Given the description of an element on the screen output the (x, y) to click on. 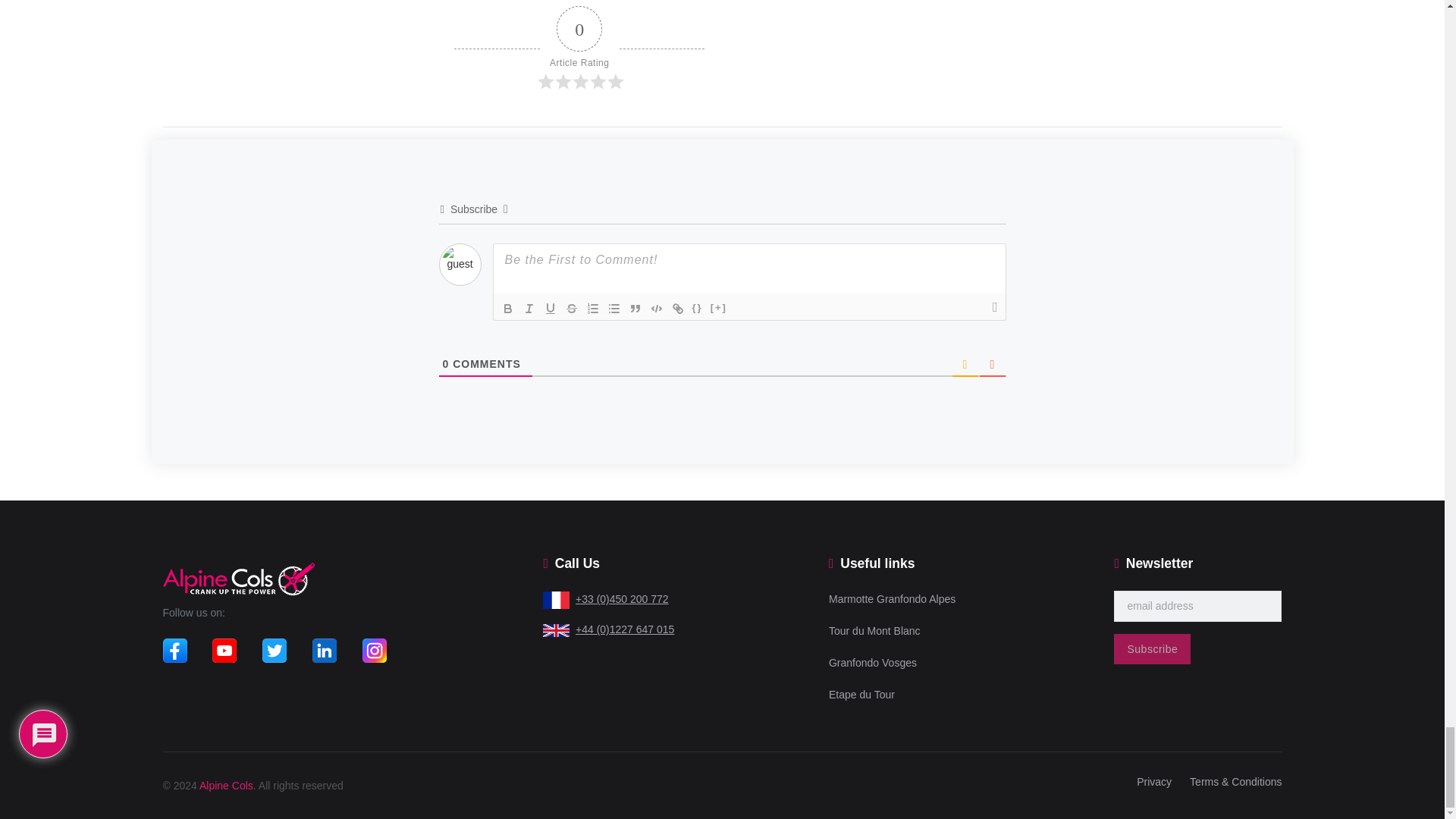
Strike (571, 308)
Unordered List (614, 308)
Blockquote (635, 308)
Italic (529, 308)
Underline (550, 308)
Bold (507, 308)
Ordered List (593, 308)
